Given the description of an element on the screen output the (x, y) to click on. 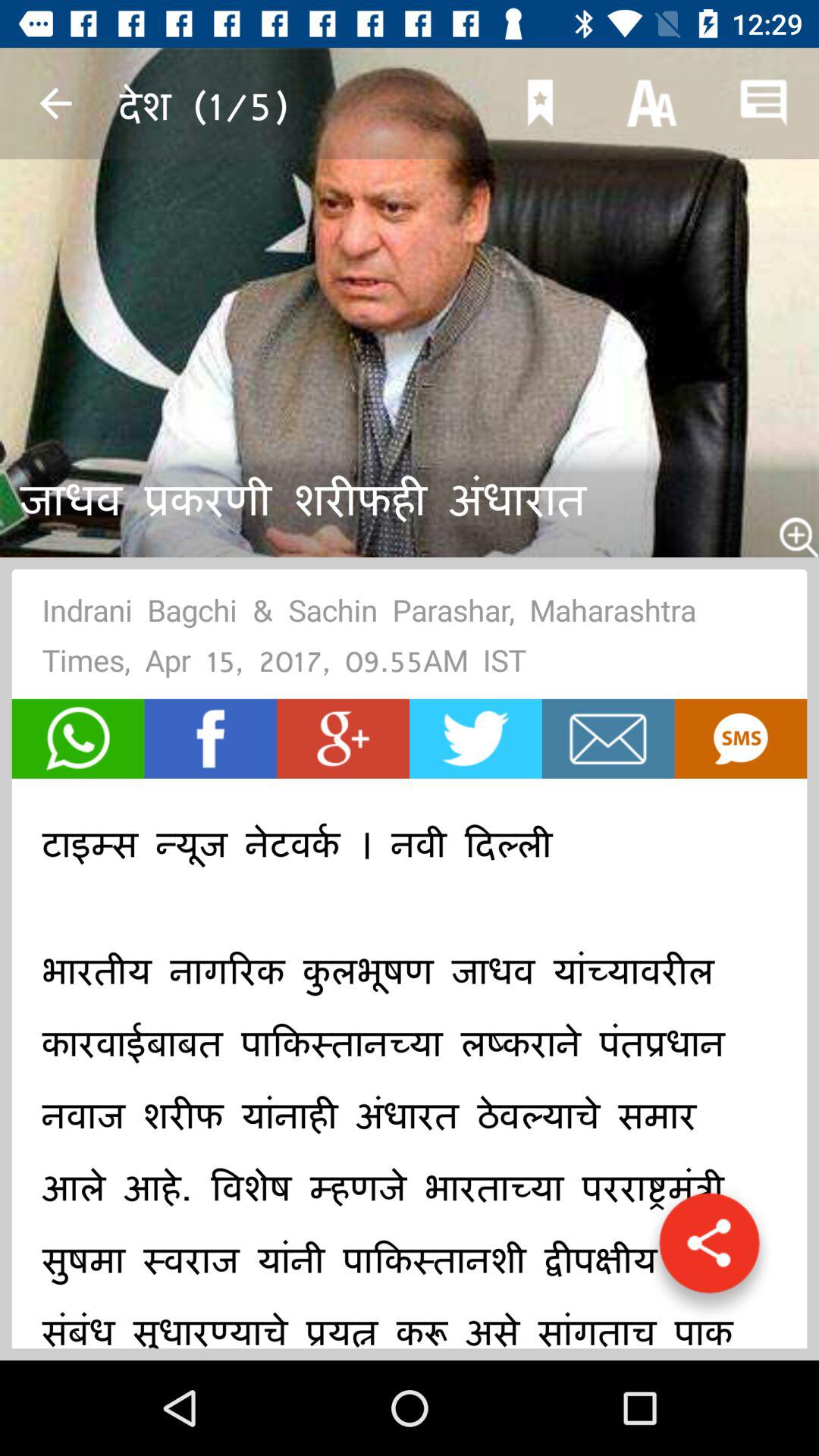
the symbol of whats up (77, 738)
